Given the description of an element on the screen output the (x, y) to click on. 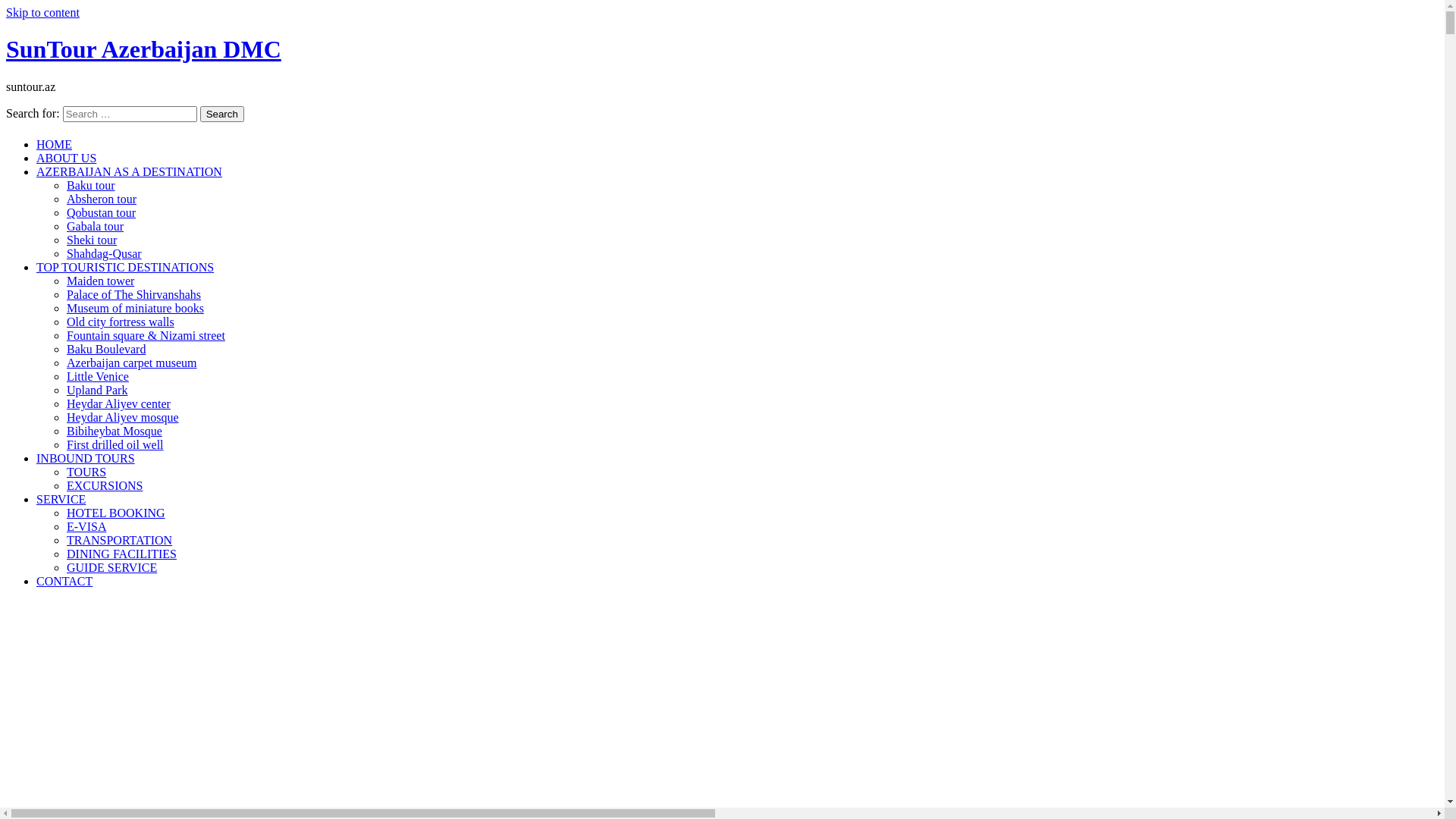
Heydar Aliyev mosque Element type: text (122, 417)
Search Element type: text (222, 114)
Bibiheybat Mosque Element type: text (114, 430)
Baku Boulevard Element type: text (105, 348)
AZERBAIJAN AS A DESTINATION Element type: text (129, 171)
EXCURSIONS Element type: text (104, 485)
CONTACT Element type: text (64, 580)
SERVICE Element type: text (60, 498)
SunTour Azerbaijan DMC Element type: text (143, 48)
INBOUND TOURS Element type: text (85, 457)
ABOUT US Element type: text (66, 157)
Maiden tower Element type: text (100, 280)
Skip to content Element type: text (42, 12)
HOME Element type: text (54, 144)
TOURS Element type: text (86, 471)
Heydar Aliyev center Element type: text (118, 403)
First drilled oil well Element type: text (114, 444)
Old city fortress walls Element type: text (120, 321)
Fountain square & Nizami street Element type: text (145, 335)
HOTEL BOOKING Element type: text (115, 512)
Shahdag-Qusar Element type: text (103, 253)
GUIDE SERVICE Element type: text (111, 567)
Azerbaijan carpet museum Element type: text (131, 362)
E-VISA Element type: text (86, 526)
Qobustan tour Element type: text (100, 212)
TRANSPORTATION Element type: text (119, 539)
Baku tour Element type: text (90, 184)
Gabala tour Element type: text (94, 225)
Absheron tour Element type: text (101, 198)
TOP TOURISTIC DESTINATIONS Element type: text (124, 266)
Upland Park Element type: text (96, 389)
Palace of The Shirvanshahs Element type: text (133, 294)
Sheki tour Element type: text (91, 239)
Little Venice Element type: text (97, 376)
Museum of miniature books Element type: text (134, 307)
DINING FACILITIES Element type: text (121, 553)
